Given the description of an element on the screen output the (x, y) to click on. 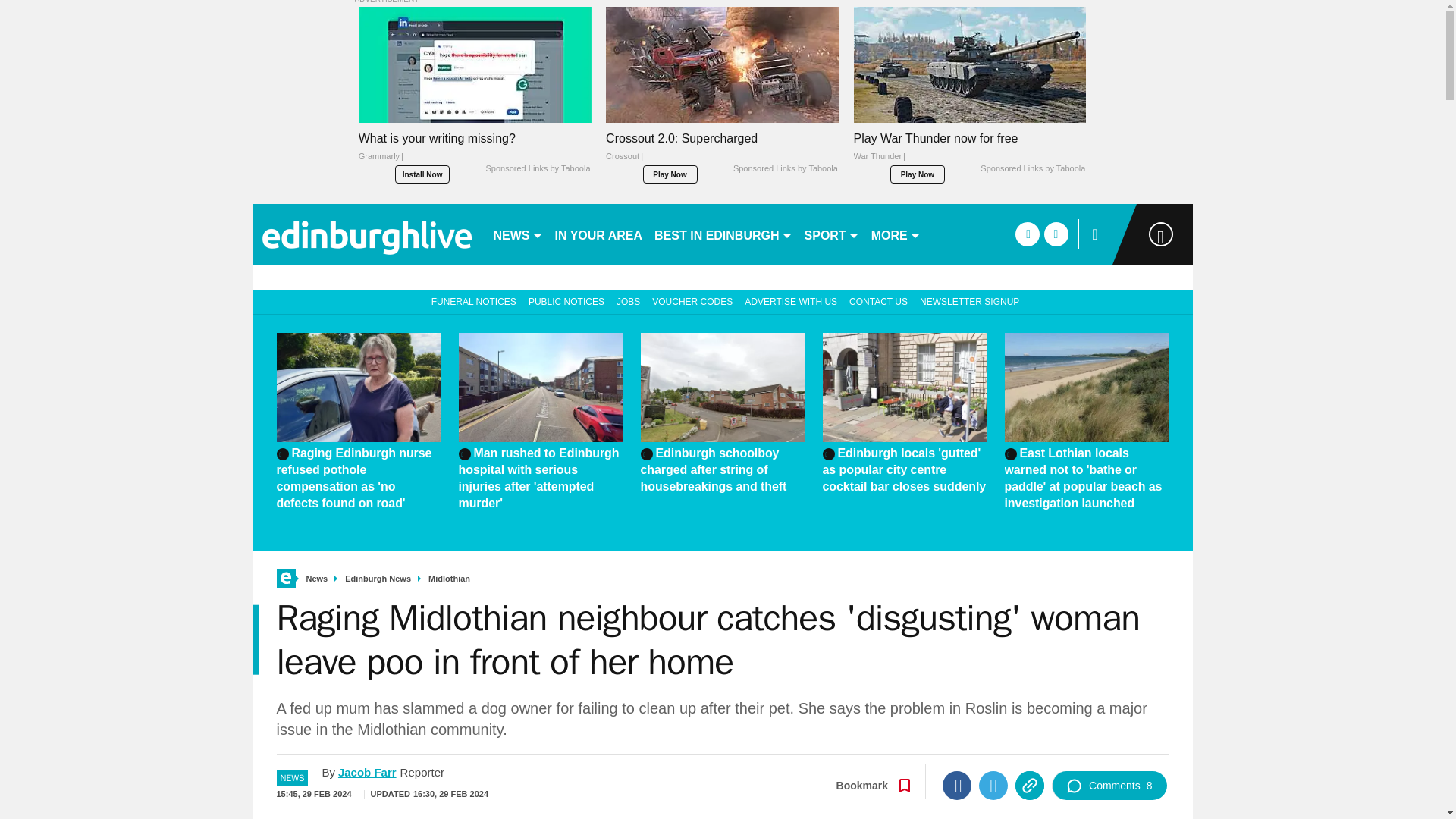
Play War Thunder now for free (969, 64)
NEWS (517, 233)
IN YOUR AREA (598, 233)
Play Now (916, 174)
Play War Thunder now for free (969, 151)
BEST IN EDINBURGH (722, 233)
Comments (1108, 785)
Install Now (421, 174)
What is your writing missing? (474, 64)
Crossout 2.0: Supercharged (721, 151)
facebook (1026, 233)
Facebook (956, 785)
Crossout 2.0: Supercharged (721, 64)
Play Now (670, 174)
Twitter (992, 785)
